Given the description of an element on the screen output the (x, y) to click on. 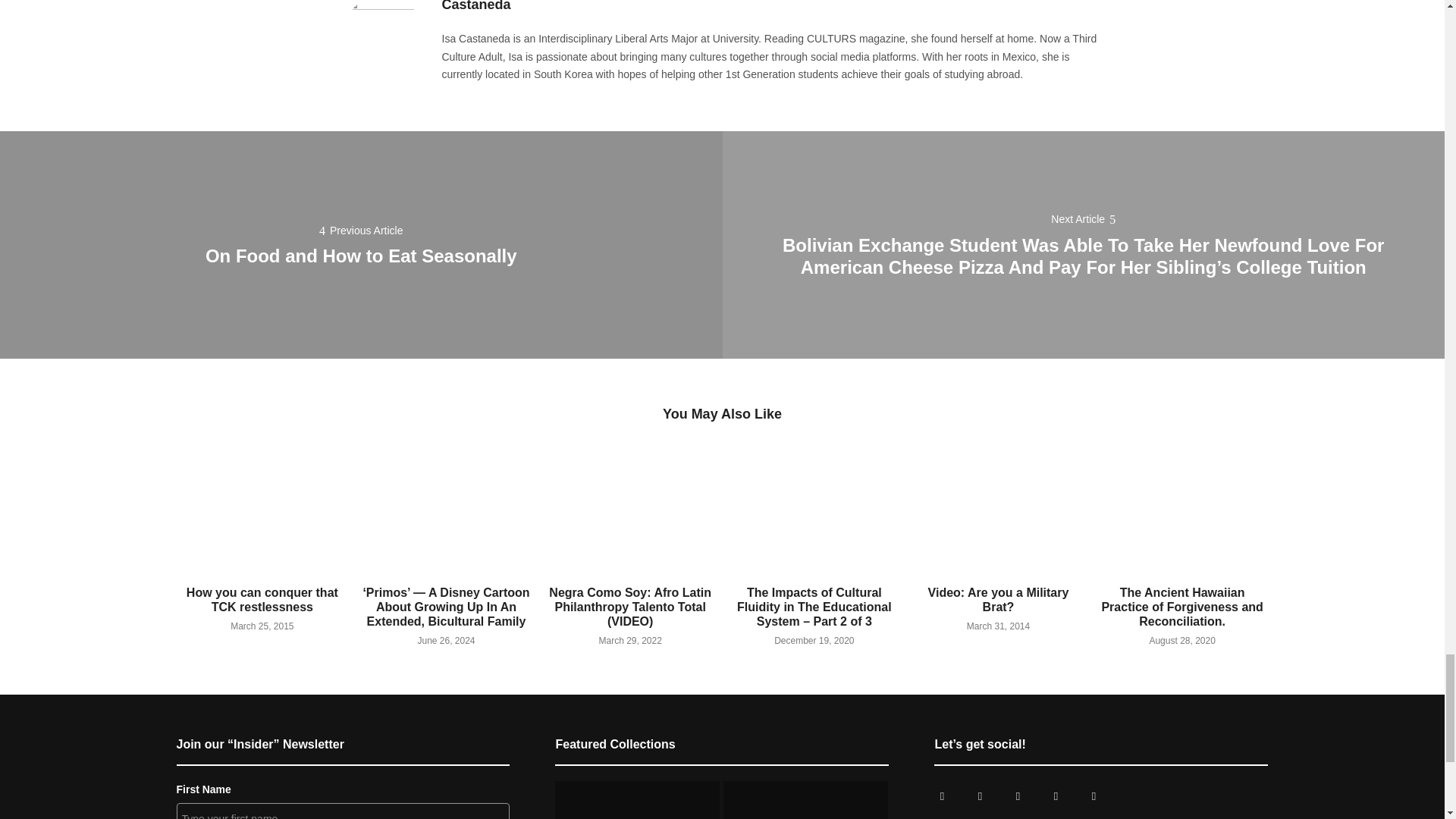
Culturs (1017, 796)
Cultursmag (978, 796)
Cultursmag (941, 796)
